Given the description of an element on the screen output the (x, y) to click on. 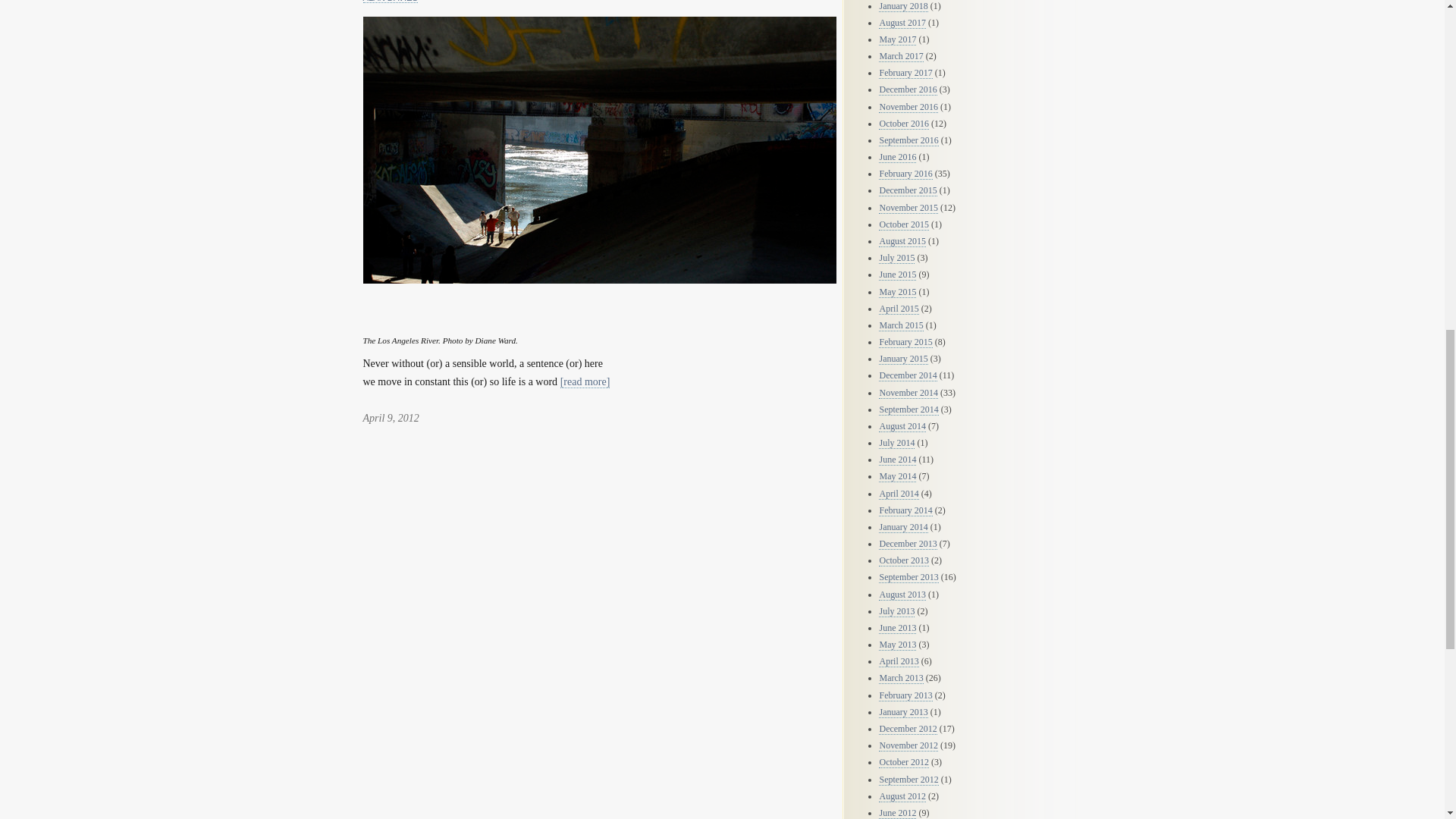
ALAN DAVIES (389, 1)
Read the rest of Never without. (585, 381)
read more (585, 381)
